Given the description of an element on the screen output the (x, y) to click on. 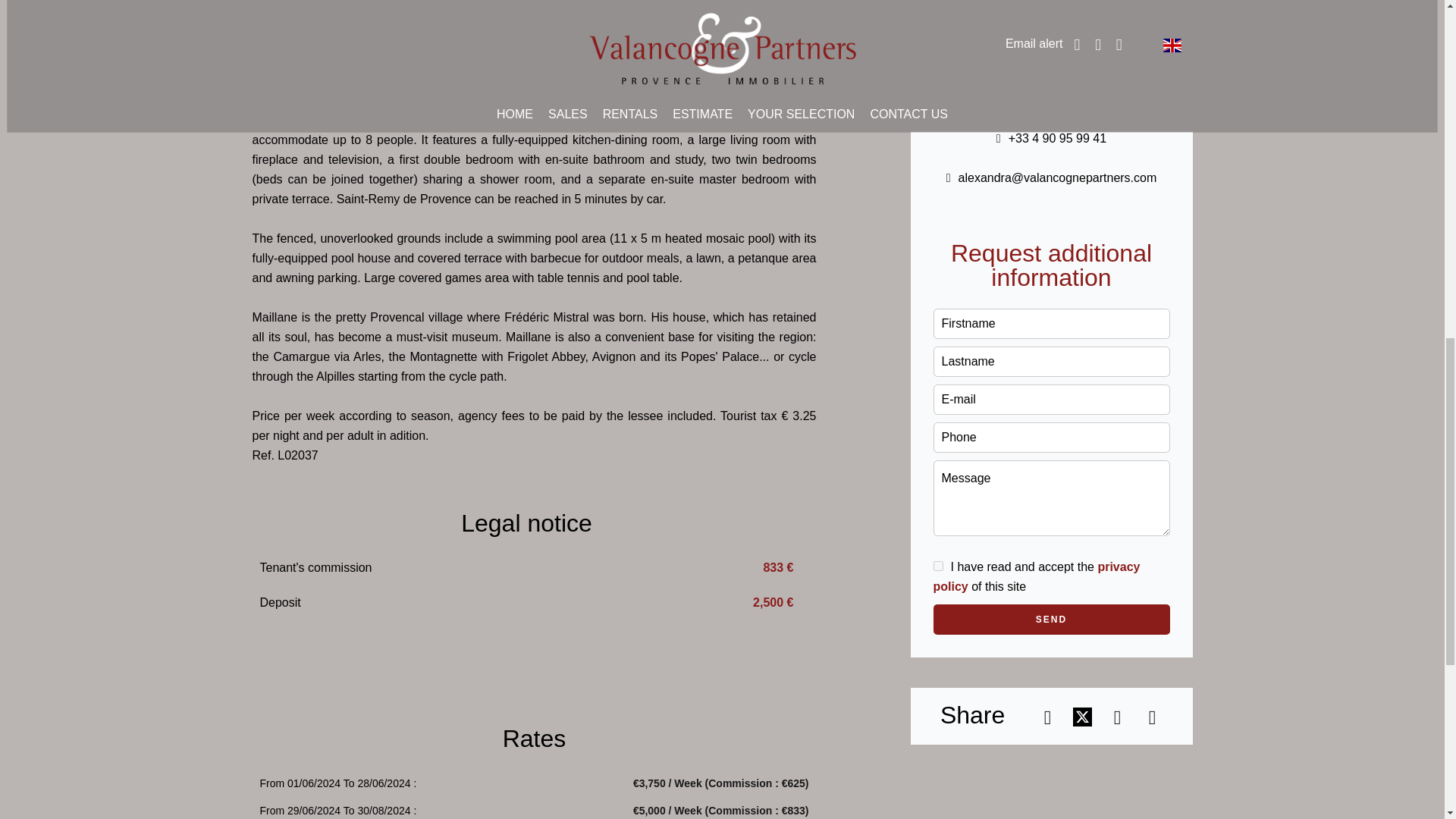
Alexandra JUSSEL (1051, 110)
on (937, 565)
privacy policy (1036, 576)
